Given the description of an element on the screen output the (x, y) to click on. 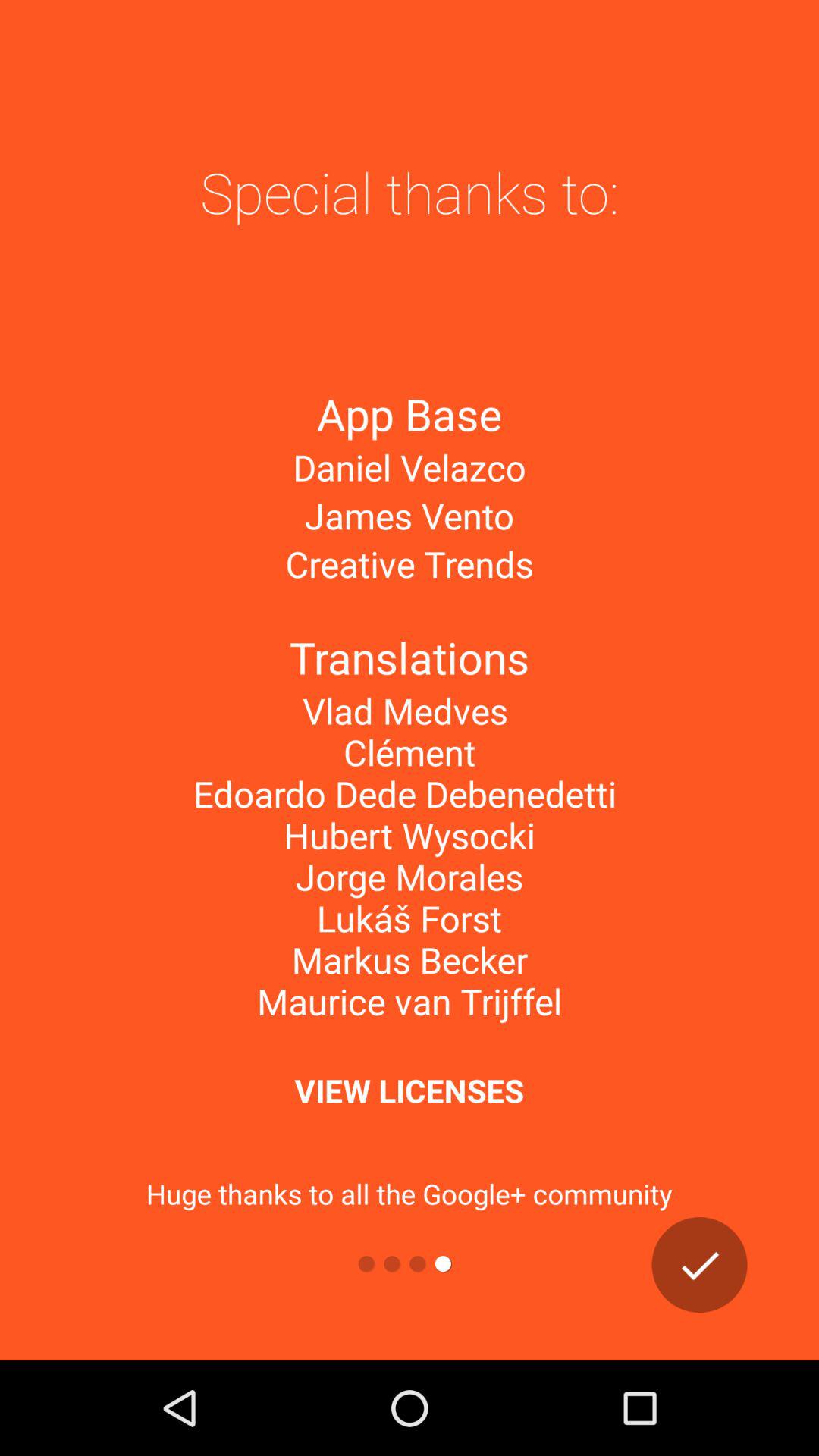
click the view licenses item (409, 1090)
